Given the description of an element on the screen output the (x, y) to click on. 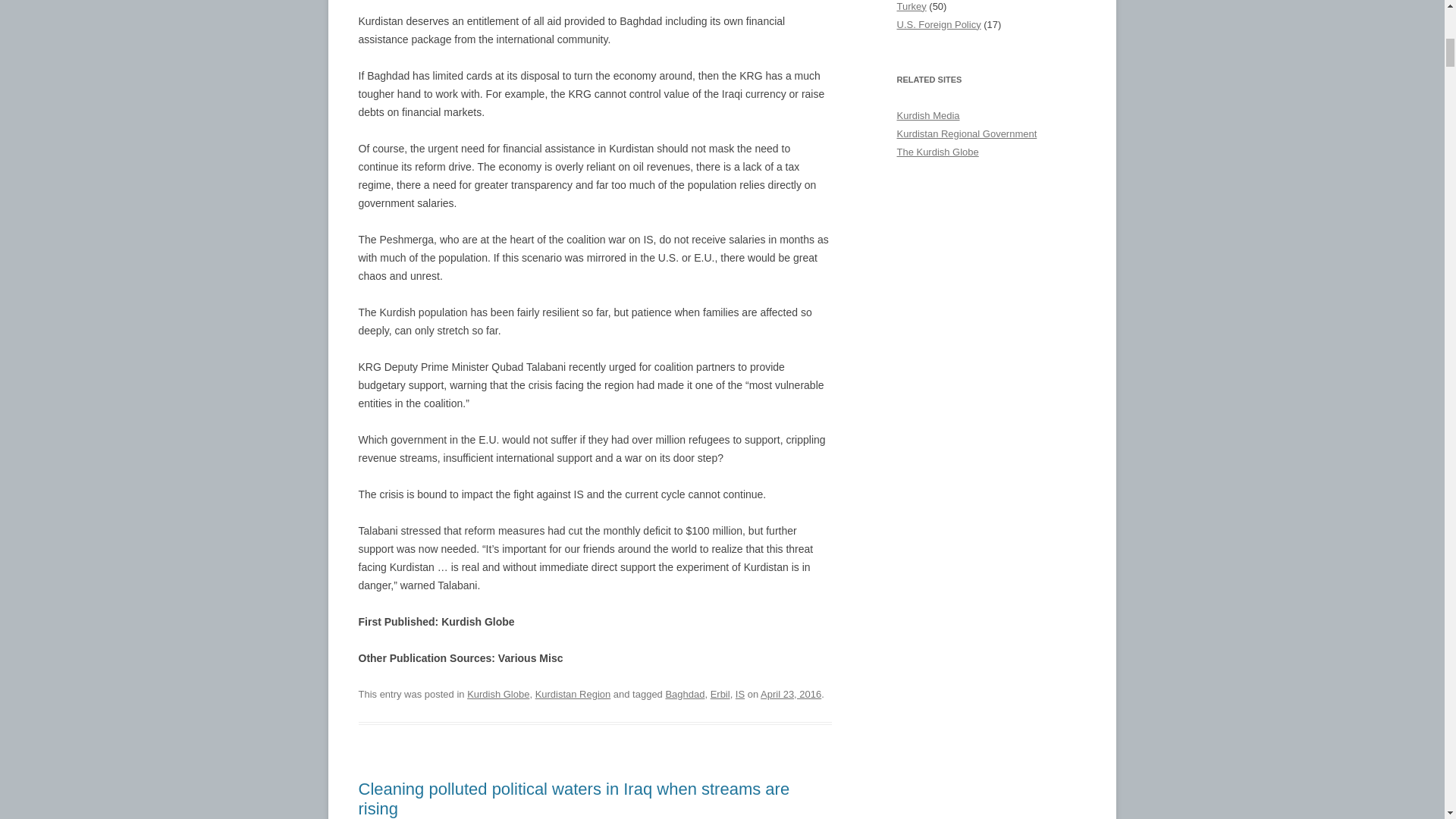
IS (739, 694)
Kurdistan Region (573, 694)
April 23, 2016 (790, 694)
8:33 am (790, 694)
Baghdad (684, 694)
Kurdish Globe (498, 694)
Erbil (720, 694)
